Given the description of an element on the screen output the (x, y) to click on. 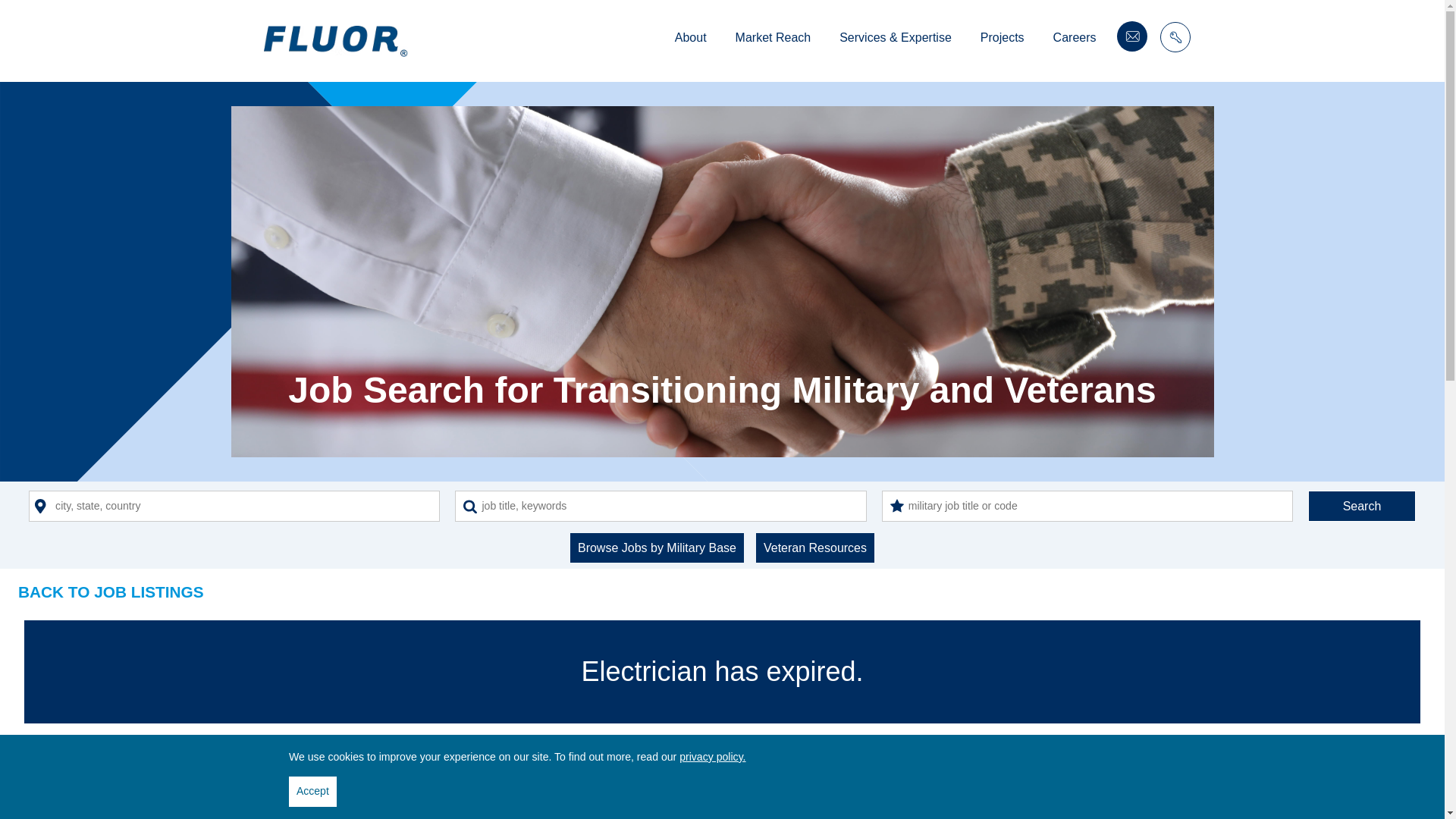
Accept (312, 791)
Veteran Resources (815, 547)
privacy policy. (712, 756)
Search (1361, 505)
Careers (1074, 39)
Market Reach (772, 39)
Projects (1002, 39)
Browse Jobs by Military Base (657, 547)
